Given the description of an element on the screen output the (x, y) to click on. 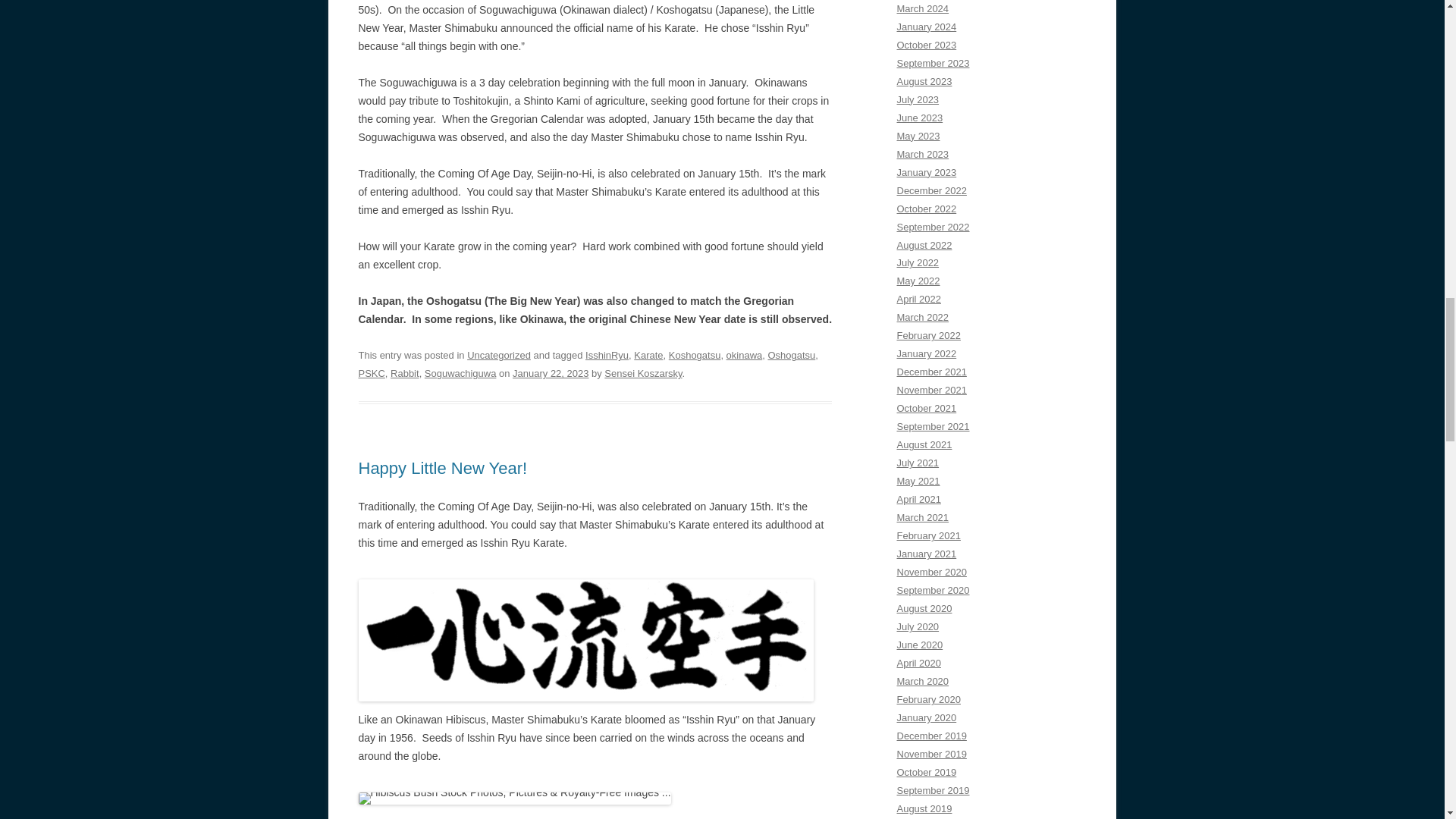
Rabbit (404, 373)
Soguwachiguwa (460, 373)
View all posts by Sensei Koszarsky (642, 373)
Oshogatsu (791, 355)
Happy Little New Year! (442, 467)
3:42 pm (550, 373)
January 22, 2023 (550, 373)
IsshinRyu (606, 355)
Sensei Koszarsky (642, 373)
Karate (647, 355)
Koshogatsu (694, 355)
okinawa (744, 355)
Uncategorized (499, 355)
PSKC (371, 373)
